Given the description of an element on the screen output the (x, y) to click on. 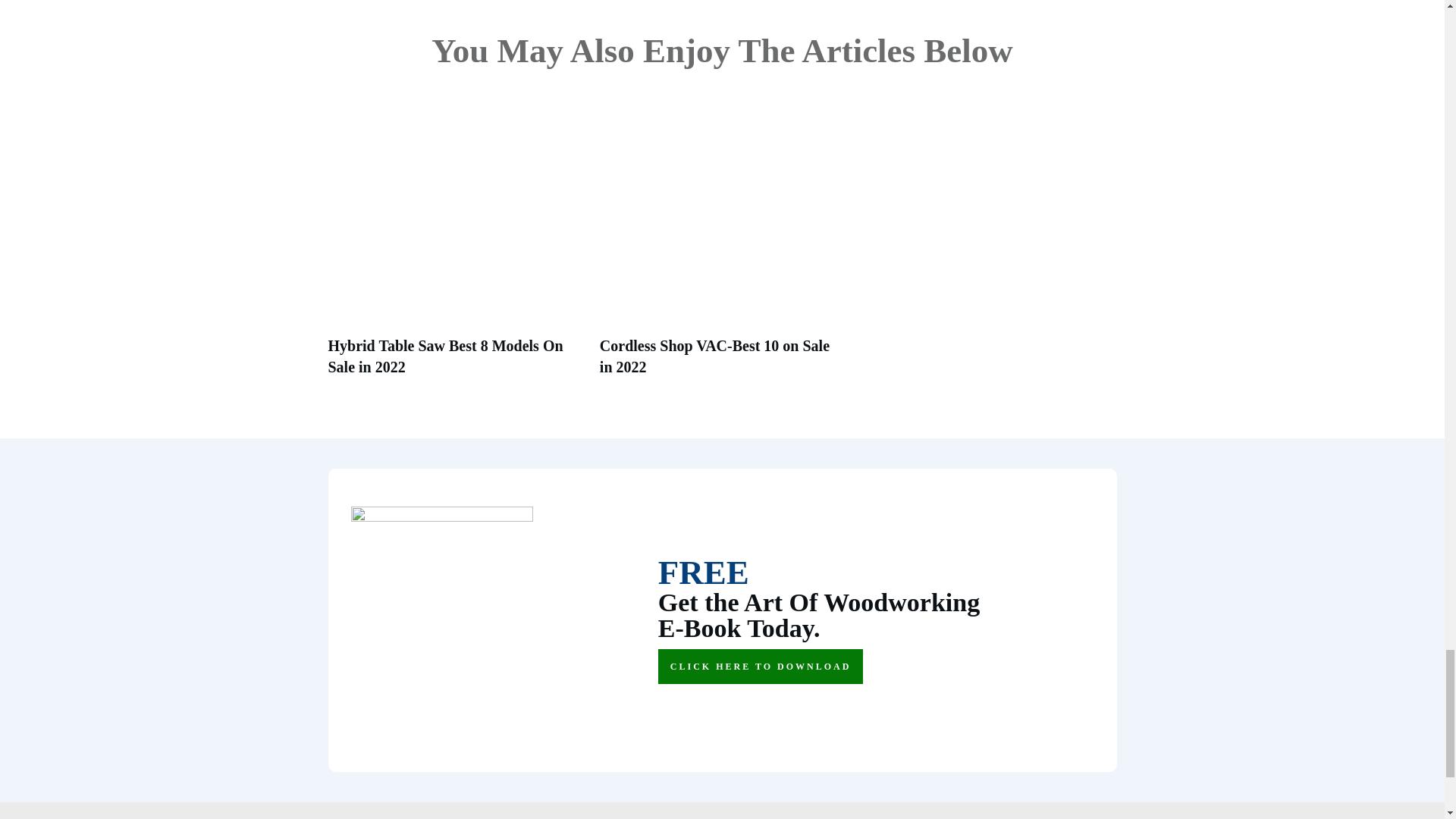
Cordless Shop VAC-Best 10 on Sale in 2022 (714, 356)
Hybrid Table Saw Best 8 Models On Sale in 2022 (444, 356)
Hybrid Table Saw Best 8 Models On Sale in 2022 (444, 356)
CLICK HERE TO DOWNLOAD (760, 666)
Cordless Shop VAC-Best 10 on Sale in 2022 (714, 356)
